Given the description of an element on the screen output the (x, y) to click on. 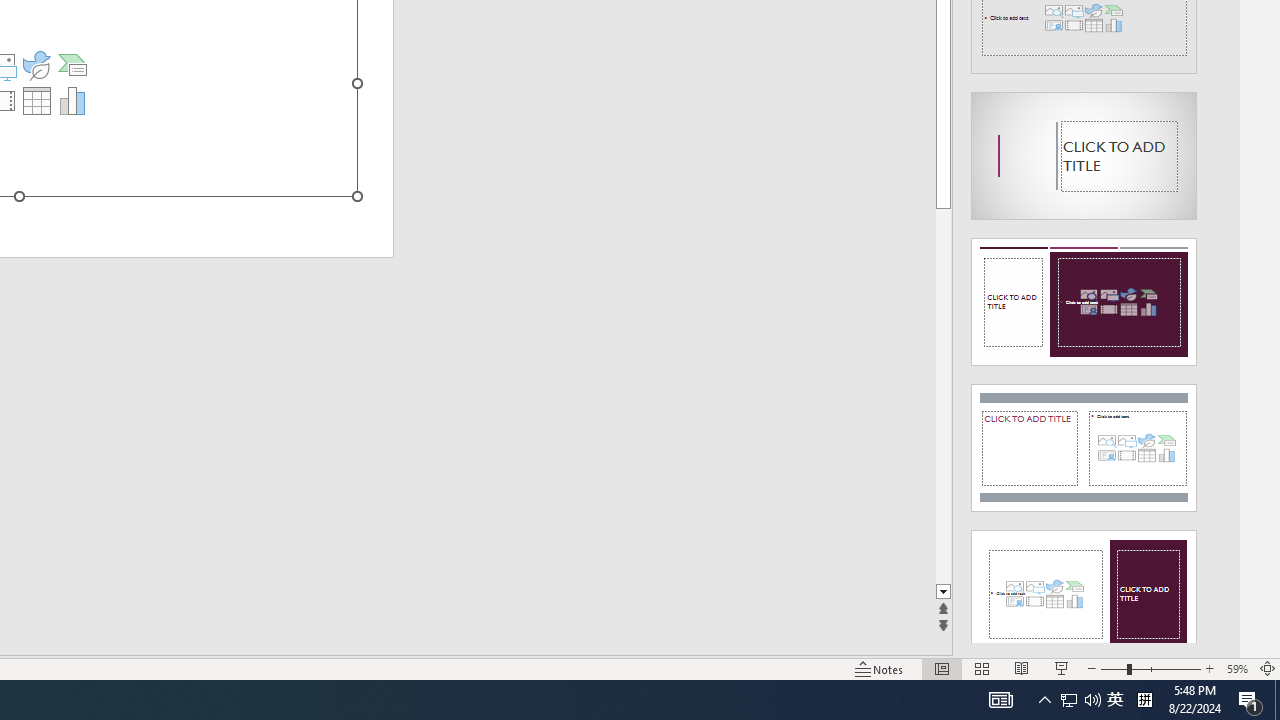
Insert Table (36, 100)
Insert Chart (73, 100)
Design Idea (1083, 587)
Insert a SmartArt Graphic (73, 64)
Insert an Icon (36, 64)
Zoom 59% (1236, 668)
